Given the description of an element on the screen output the (x, y) to click on. 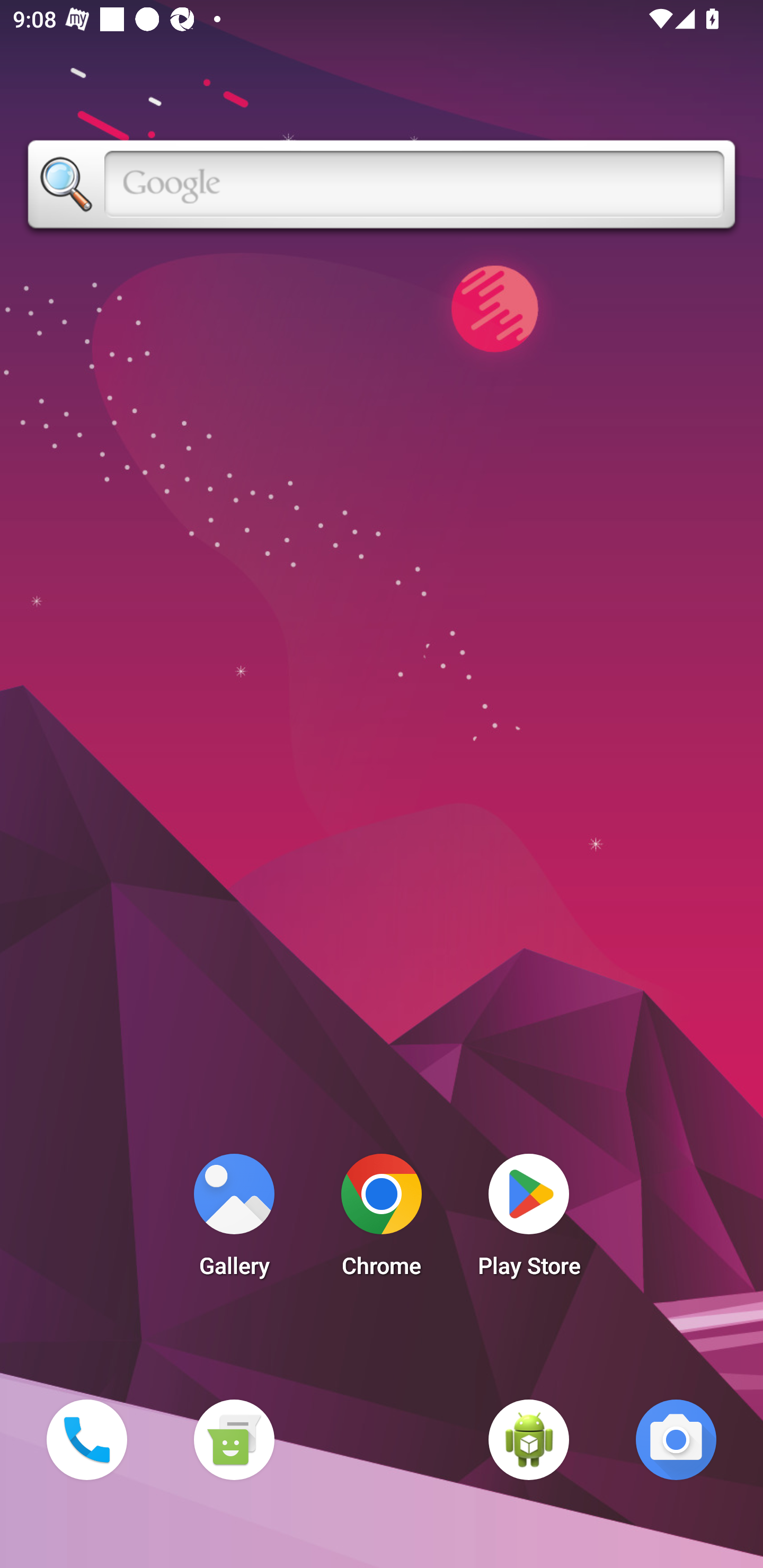
Gallery (233, 1220)
Chrome (381, 1220)
Play Store (528, 1220)
Phone (86, 1439)
Messaging (233, 1439)
WebView Browser Tester (528, 1439)
Camera (676, 1439)
